Given the description of an element on the screen output the (x, y) to click on. 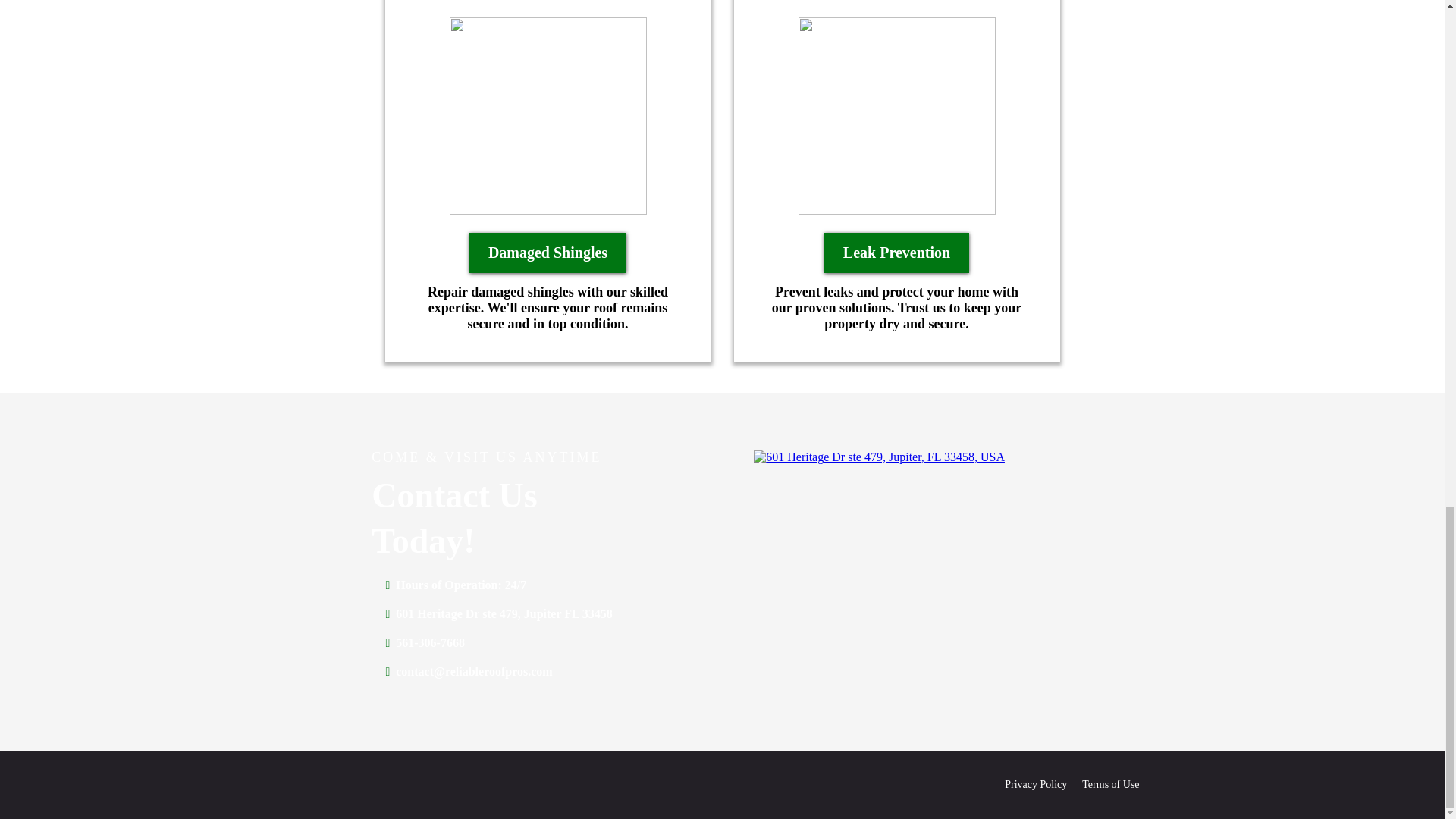
Terms of Use (1110, 784)
Privacy Policy (1035, 784)
Leak Prevention (896, 252)
Damaged Shingles (547, 252)
